Given the description of an element on the screen output the (x, y) to click on. 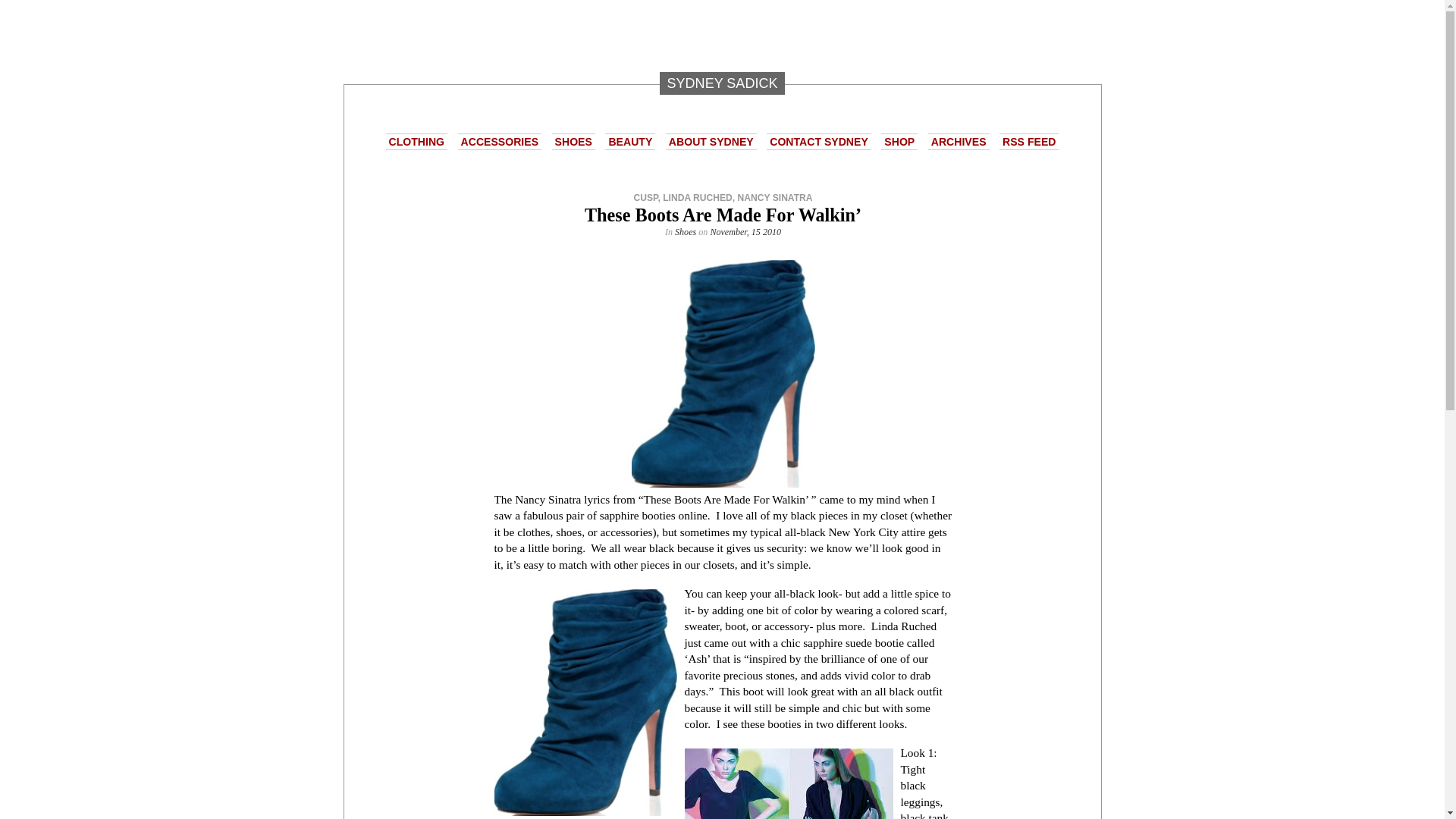
LINDA RUCHED (697, 197)
BEAUTY (630, 141)
RSS FEED (1028, 141)
SHOES (573, 141)
SHOP (898, 141)
CUSP (645, 197)
Shoes (685, 231)
CONTACT SYDNEY (818, 141)
ARCHIVES (959, 141)
ABOUT SYDNEY (711, 141)
images-8 (788, 783)
CLOTHING (416, 141)
images-12 (586, 701)
SYDNEY SADICK (722, 83)
